Given the description of an element on the screen output the (x, y) to click on. 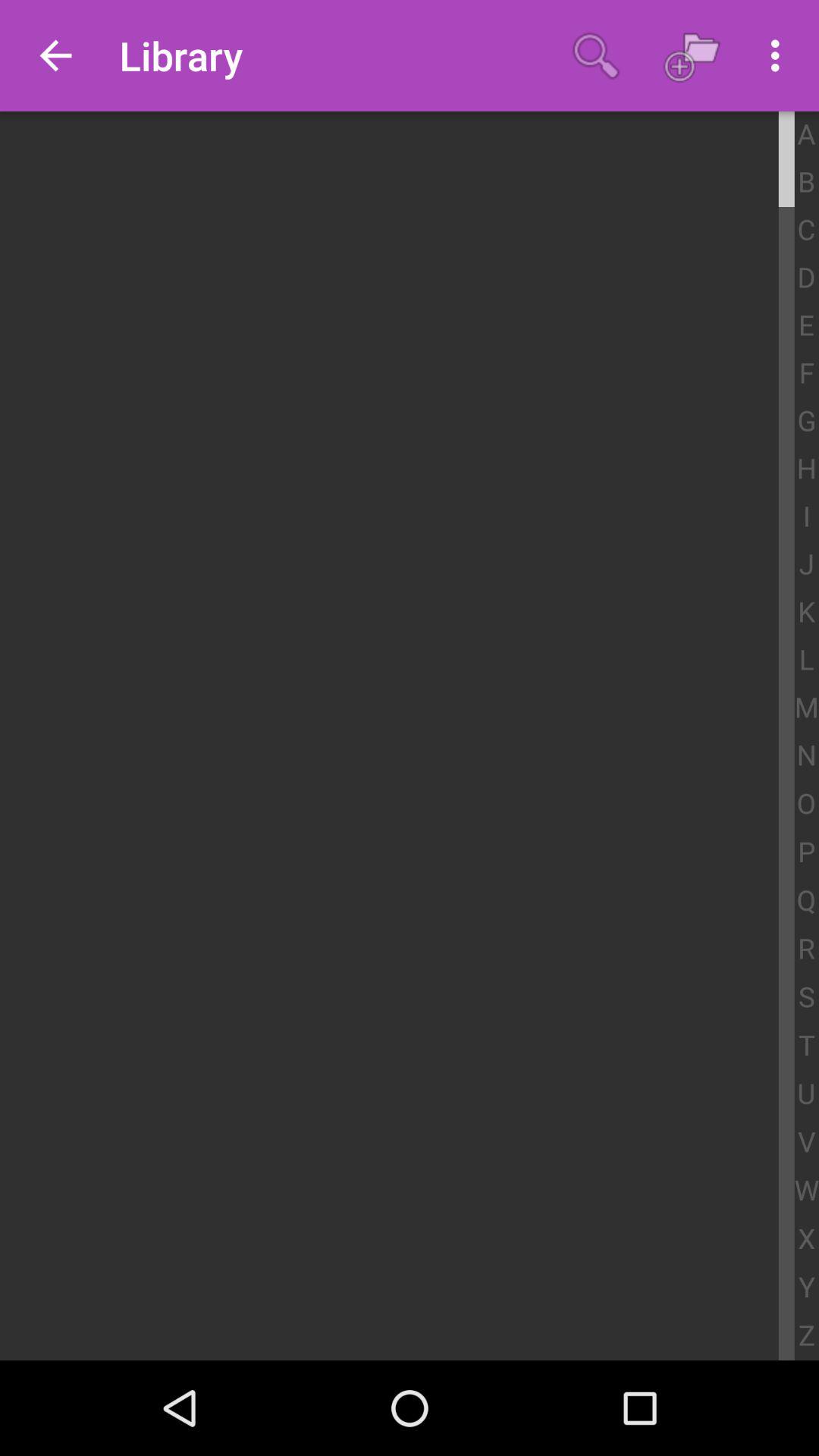
choose icon at the center (397, 735)
